Given the description of an element on the screen output the (x, y) to click on. 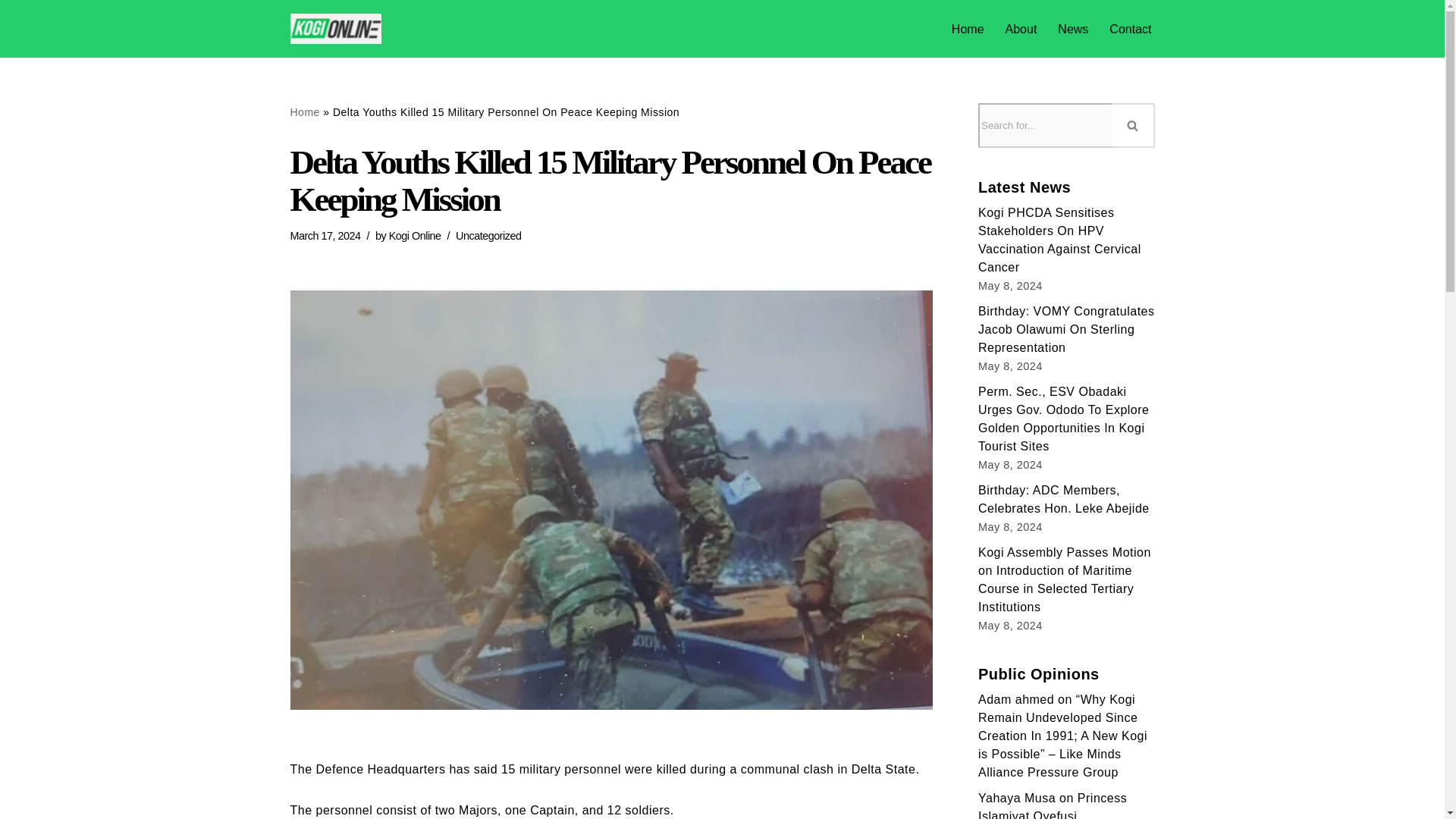
Home (303, 111)
Adam ahmed (1016, 698)
Skip to content (11, 31)
News (1072, 28)
Posts by Kogi Online (414, 235)
Contact (1130, 28)
Birthday: ADC Members, Celebrates Hon. Leke Abejide (1064, 499)
Home (968, 28)
About (1021, 28)
